Given the description of an element on the screen output the (x, y) to click on. 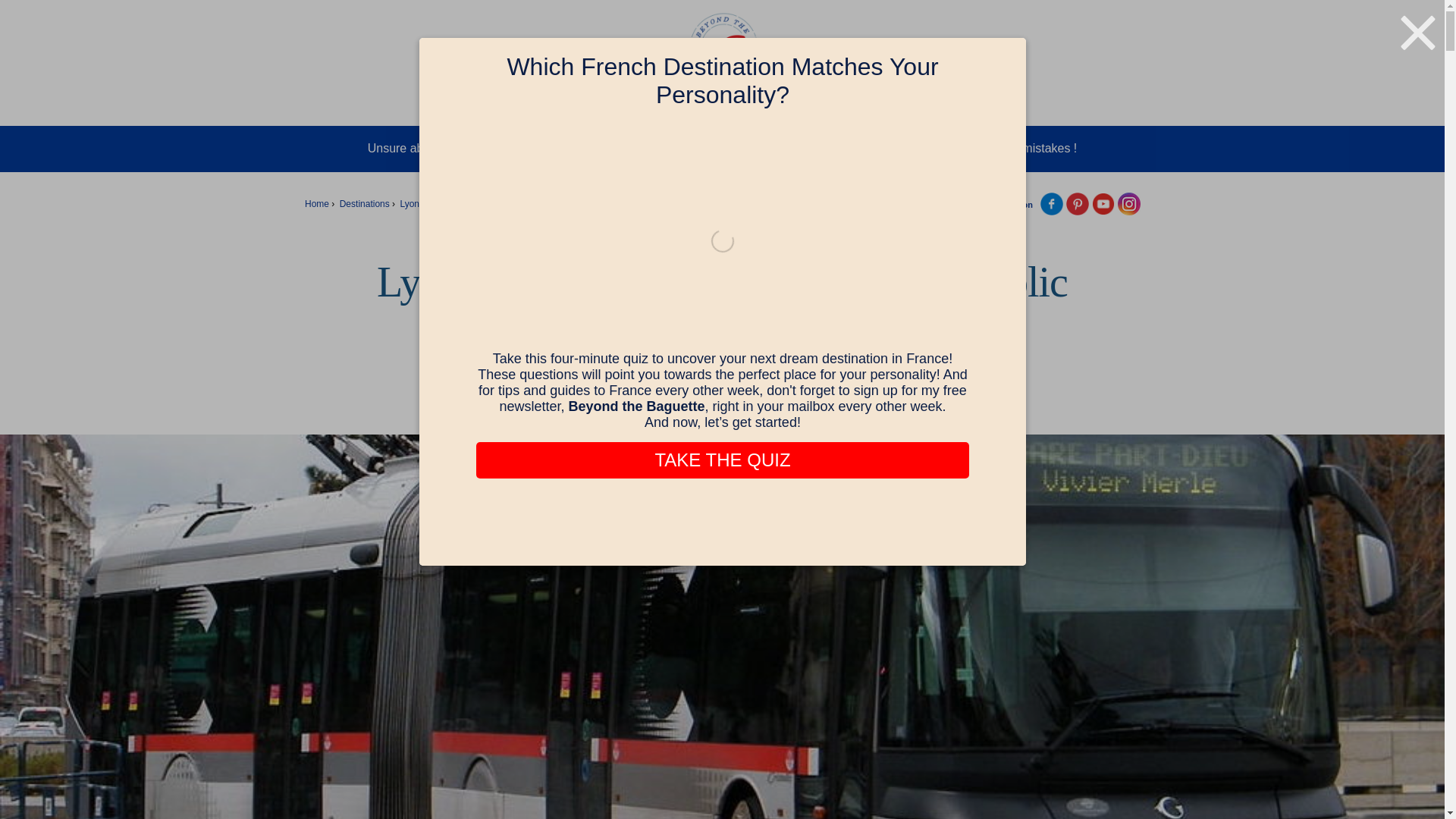
logo on offbeatfrance (1129, 203)
logo on offbeatfrance (1077, 203)
OFFBEATFRANCE.COM (722, 47)
START HERE (470, 104)
logo on offbeatfrance (1051, 203)
logo on offbeatfrance (1103, 203)
